Given the description of an element on the screen output the (x, y) to click on. 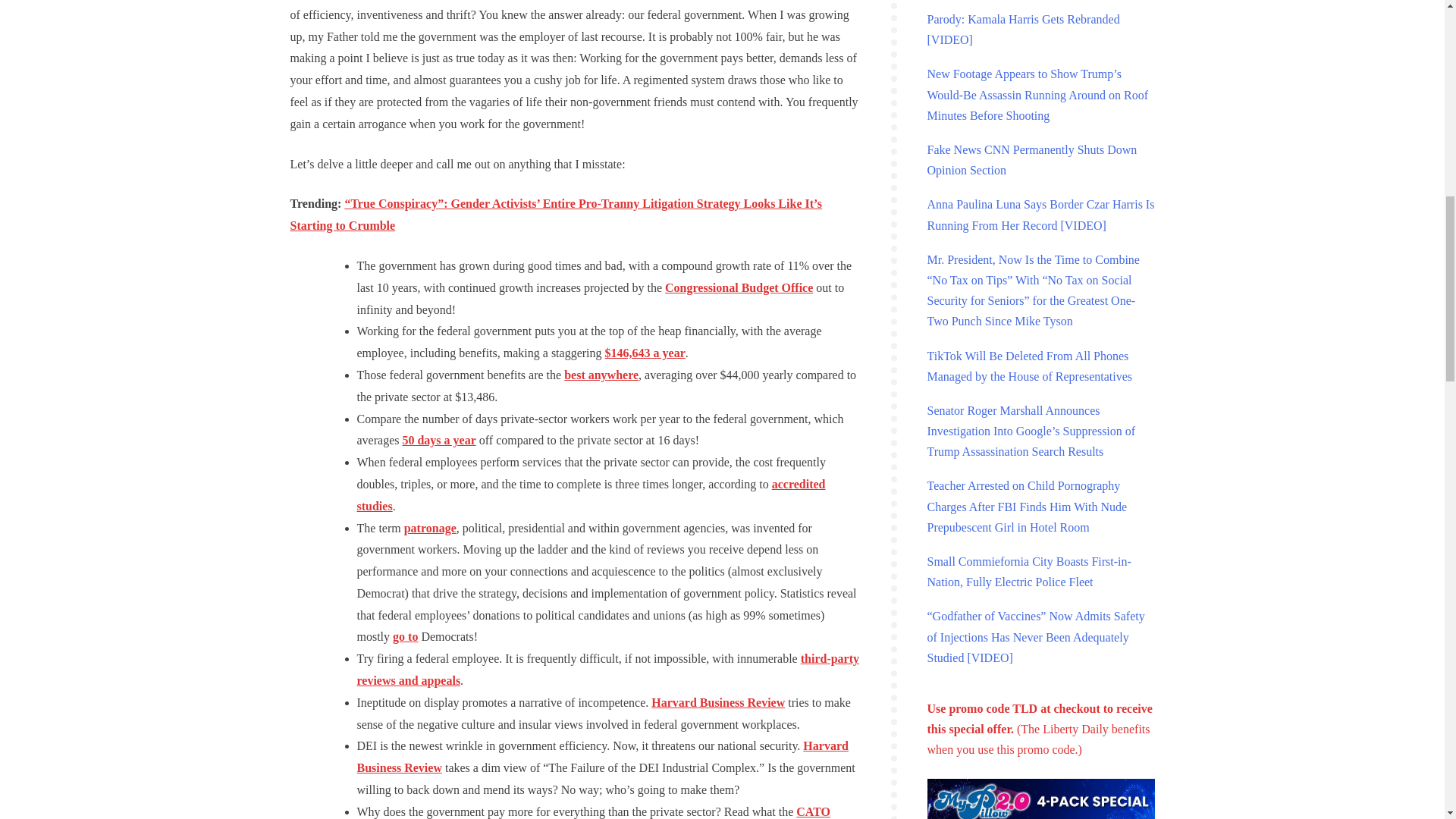
best anywhere (601, 374)
50 days a year (438, 440)
go to (405, 635)
Congressional Budget Office (738, 287)
Harvard Business Review (717, 702)
patronage (430, 527)
third-party reviews and appeals (607, 669)
accredited studies (590, 494)
CATO Institute (592, 812)
Harvard Business Review (601, 756)
